Given the description of an element on the screen output the (x, y) to click on. 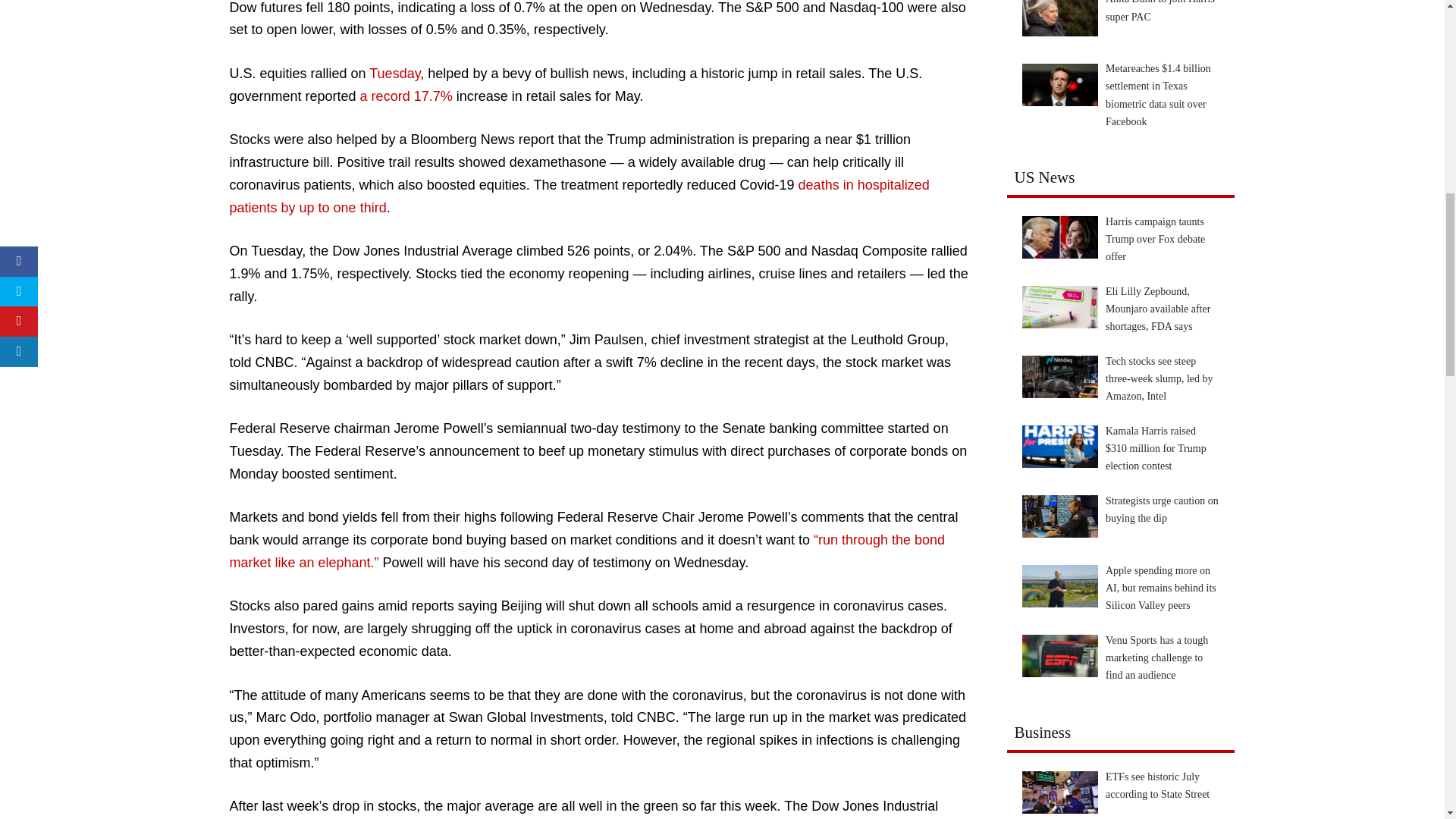
Kamala Harris raised 0 million for Trump election contest (1059, 446)
Anita Dunn to join Harris super PAC (1059, 18)
Harris campaign taunts Trump over Fox debate offer (1059, 237)
Tech stocks see steep three-week slump, led by Amazon, Intel (1059, 376)
